Given the description of an element on the screen output the (x, y) to click on. 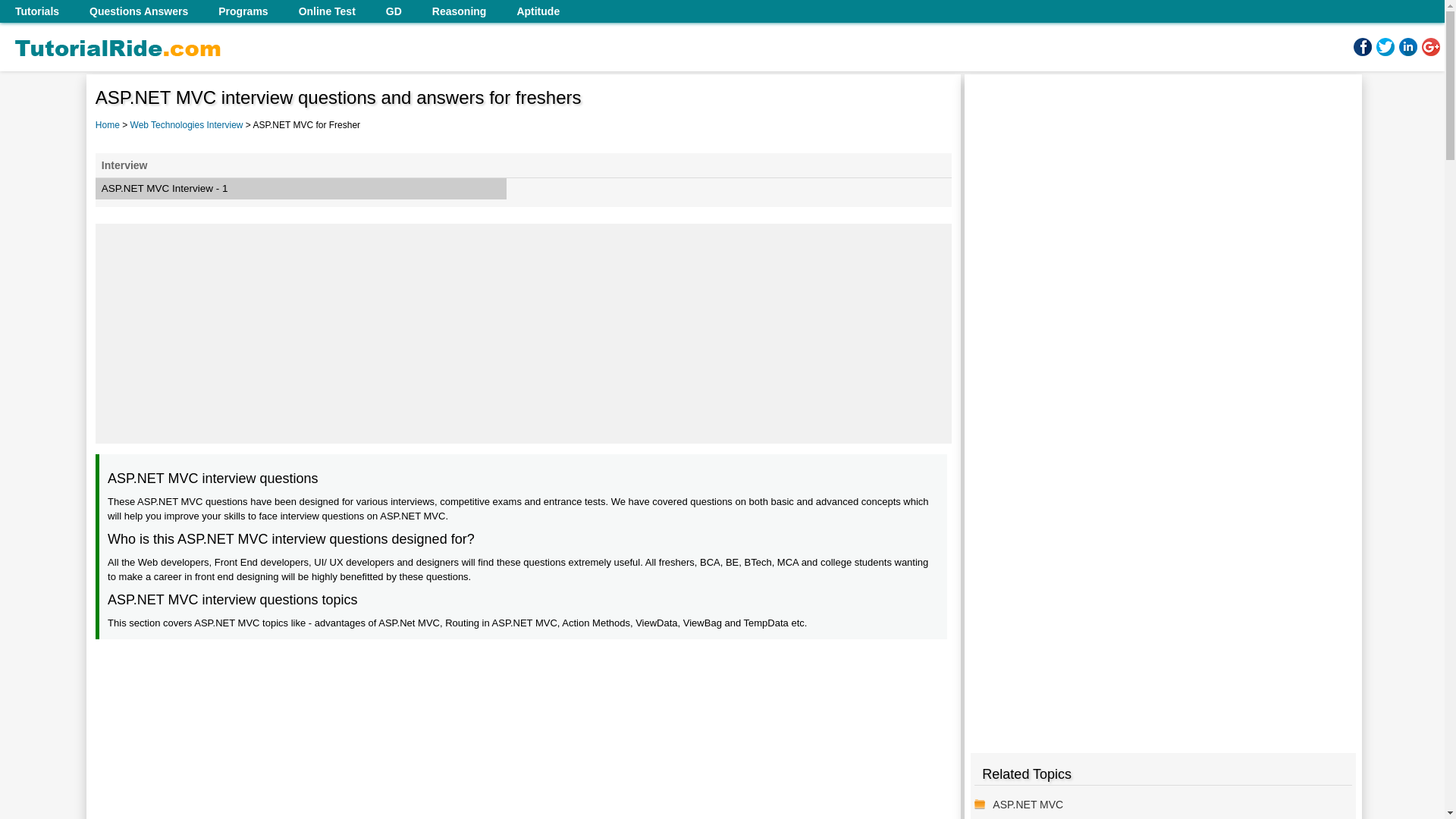
Tutorials (37, 11)
Questions Answers (138, 11)
ASP.NET MVC (1168, 803)
Web Technologies Interview (188, 124)
Online Test (327, 11)
ASP.NET MVC Interview Questions (1168, 803)
Aptitude (537, 11)
